Given the description of an element on the screen output the (x, y) to click on. 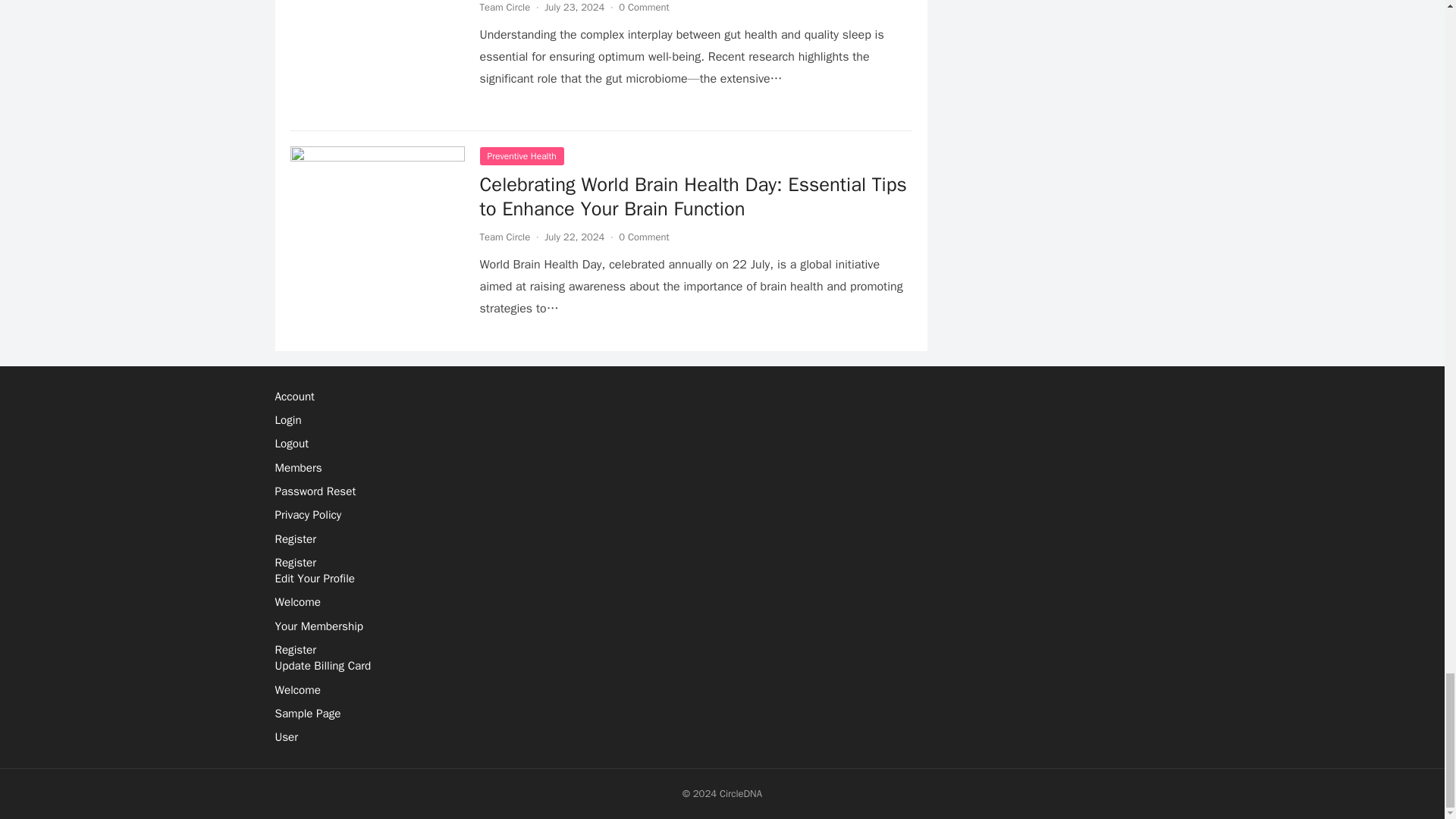
Posts by Team Circle (504, 236)
Posts by Team Circle (504, 6)
